Given the description of an element on the screen output the (x, y) to click on. 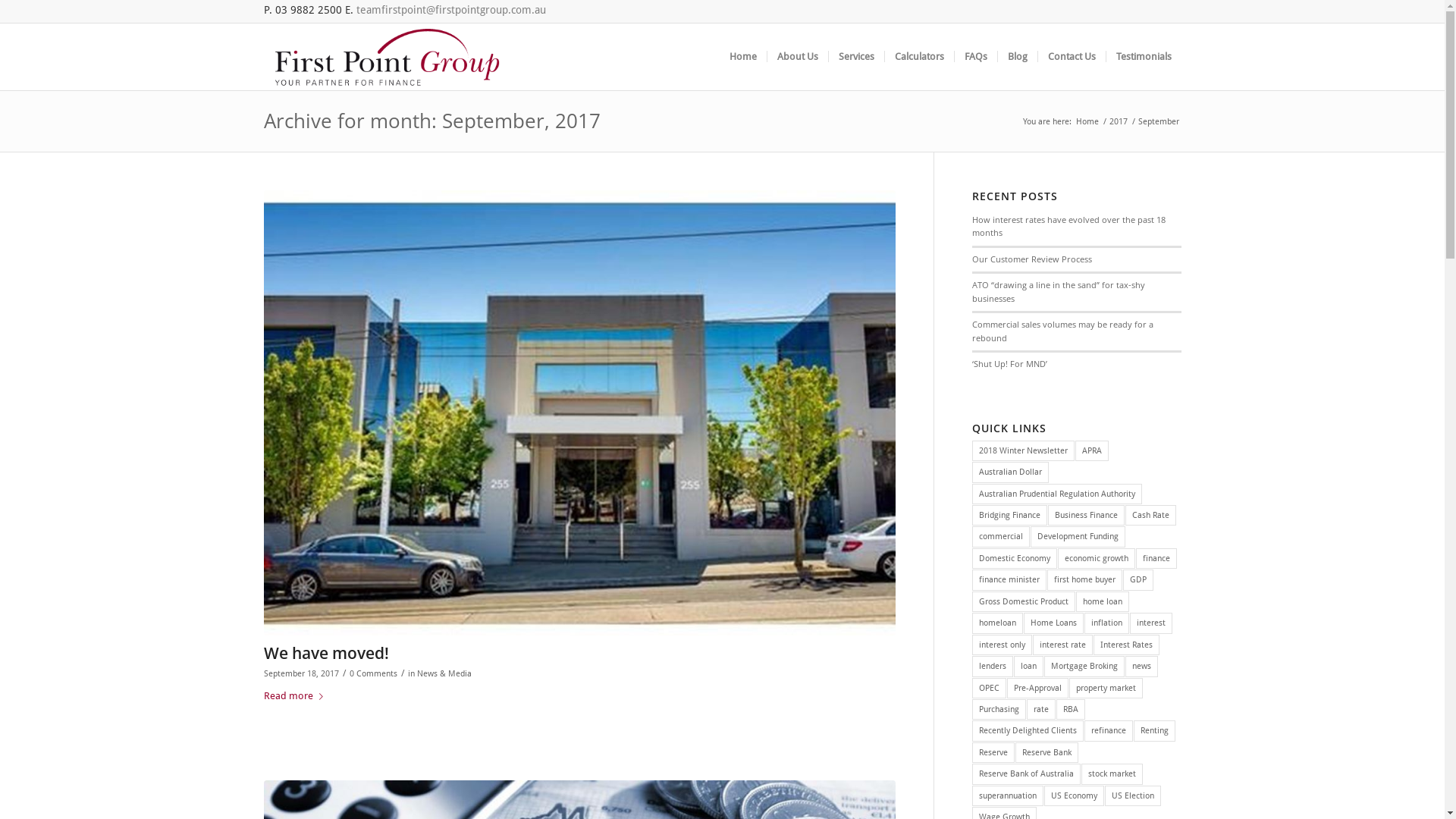
2017 Element type: text (1118, 121)
home loan Element type: text (1102, 601)
Reserve Bank of Australia Element type: text (1026, 773)
News & Media Element type: text (444, 673)
Renting Element type: text (1154, 730)
teamfirstpoint@firstpointgroup.com.au Element type: text (451, 9)
Pre-Approval Element type: text (1037, 687)
Reserve Bank Element type: text (1046, 752)
Recently Delighted Clients Element type: text (1027, 730)
inflation Element type: text (1106, 622)
news Element type: text (1141, 665)
RBA Element type: text (1070, 709)
Contact Us Element type: text (1071, 56)
Our Customer Review Process Element type: text (1032, 258)
Business Finance Element type: text (1086, 515)
Commercial sales volumes may be ready for a rebound Element type: text (1062, 330)
Home Element type: text (1087, 121)
Blog Element type: text (1016, 56)
Services Element type: text (856, 56)
homeloan Element type: text (997, 622)
Our new office Element type: hover (579, 412)
US Election Element type: text (1132, 795)
economic growth Element type: text (1096, 558)
Purchasing Element type: text (999, 709)
interest Element type: text (1150, 622)
finance minister Element type: text (1009, 579)
OPEC Element type: text (989, 687)
2018 Winter Newsletter Element type: text (1023, 450)
finance Element type: text (1155, 558)
Domestic Economy Element type: text (1014, 558)
Read more Element type: text (296, 695)
superannuation Element type: text (1007, 795)
FAQs Element type: text (975, 56)
Development Funding Element type: text (1077, 536)
Australian Prudential Regulation Authority Element type: text (1057, 493)
Gross Domestic Product Element type: text (1023, 601)
GDP Element type: text (1138, 579)
Home Loans Element type: text (1053, 622)
lenders Element type: text (992, 665)
stock market Element type: text (1111, 773)
Cash Rate Element type: text (1150, 515)
property market Element type: text (1105, 687)
Interest Rates Element type: text (1126, 644)
0 Comments Element type: text (372, 673)
Bridging Finance Element type: text (1009, 515)
refinance Element type: text (1108, 730)
first home buyer Element type: text (1084, 579)
Home Element type: text (741, 56)
interest rate Element type: text (1062, 644)
Testimonials Element type: text (1143, 56)
How interest rates have evolved over the past 18 months Element type: text (1068, 225)
About Us Element type: text (796, 56)
loan Element type: text (1028, 665)
Reserve Element type: text (993, 752)
FGP_logo Element type: hover (386, 56)
Australian Dollar Element type: text (1010, 471)
We have moved! Element type: text (326, 652)
Calculators Element type: text (918, 56)
interest only Element type: text (1002, 644)
rate Element type: text (1040, 709)
US Economy Element type: text (1074, 795)
Mortgage Broking Element type: text (1084, 665)
commercial Element type: text (1000, 536)
APRA Element type: text (1091, 450)
